Given the description of an element on the screen output the (x, y) to click on. 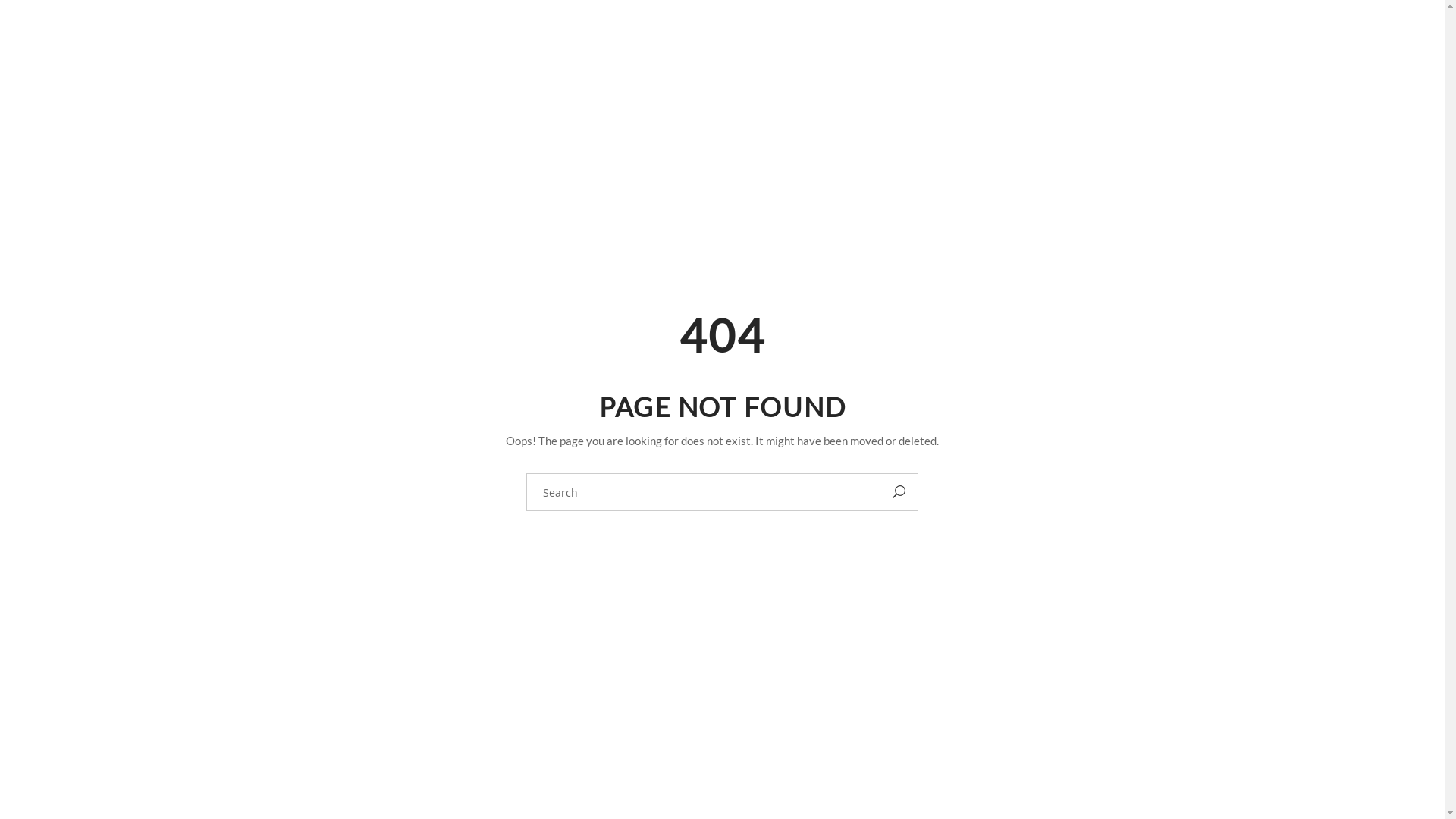
GRINDERS Element type: text (811, 37)
CONTACT US Element type: text (1331, 37)
ABOUT US Element type: text (1238, 37)
DOWNLOAD Element type: text (1147, 37)
MACHINES Element type: text (724, 37)
ACCESSORIES Element type: text (1046, 37)
Search for: Element type: hover (703, 491)
FILTER EQUIPMENT Element type: text (924, 37)
